Given the description of an element on the screen output the (x, y) to click on. 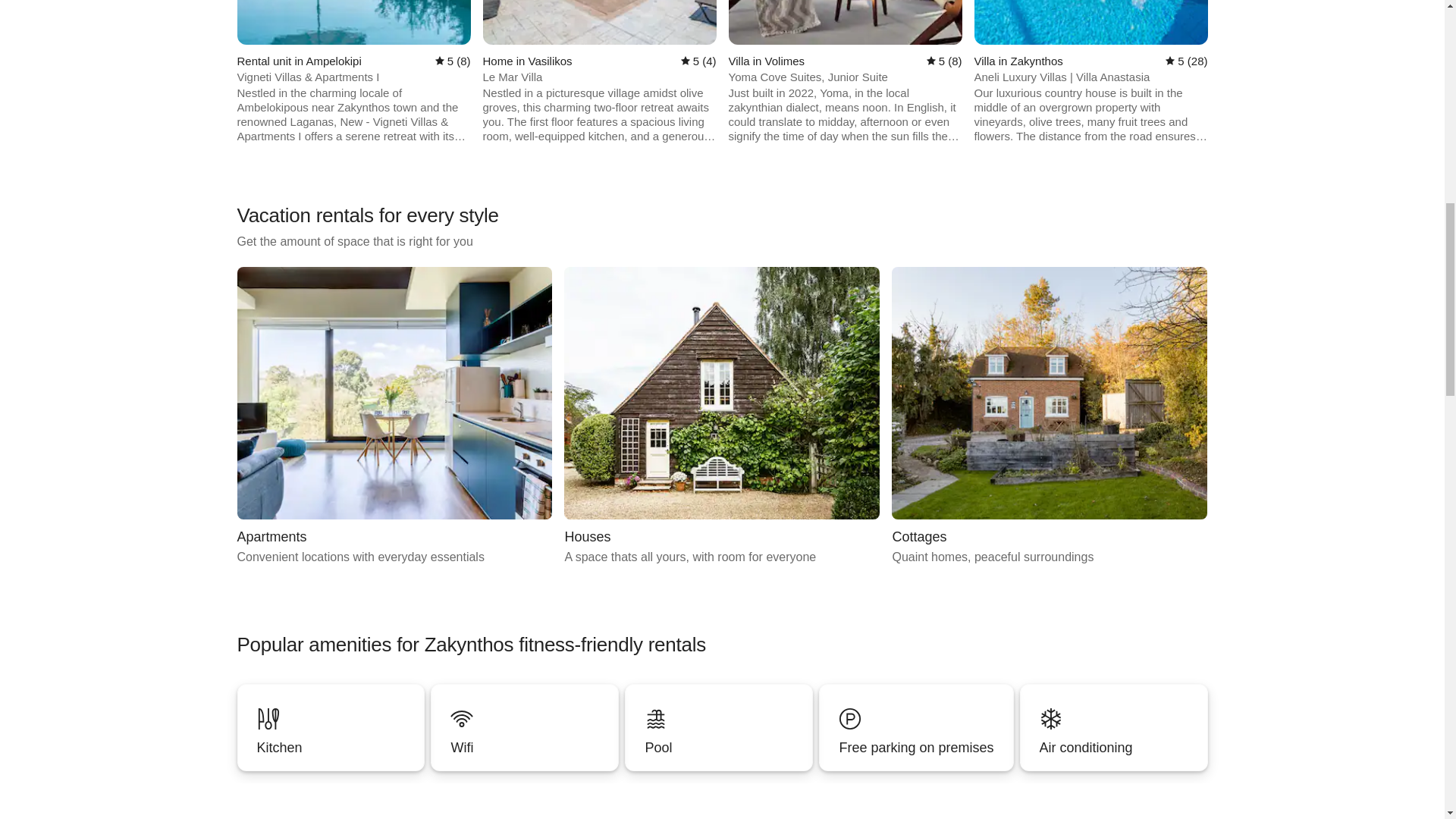
Wifi (524, 727)
Free parking on premises (915, 747)
Free parking on premises (915, 727)
Kitchen (330, 747)
Pool (721, 416)
Free parking on premises (718, 727)
Wifi (1049, 416)
